Given the description of an element on the screen output the (x, y) to click on. 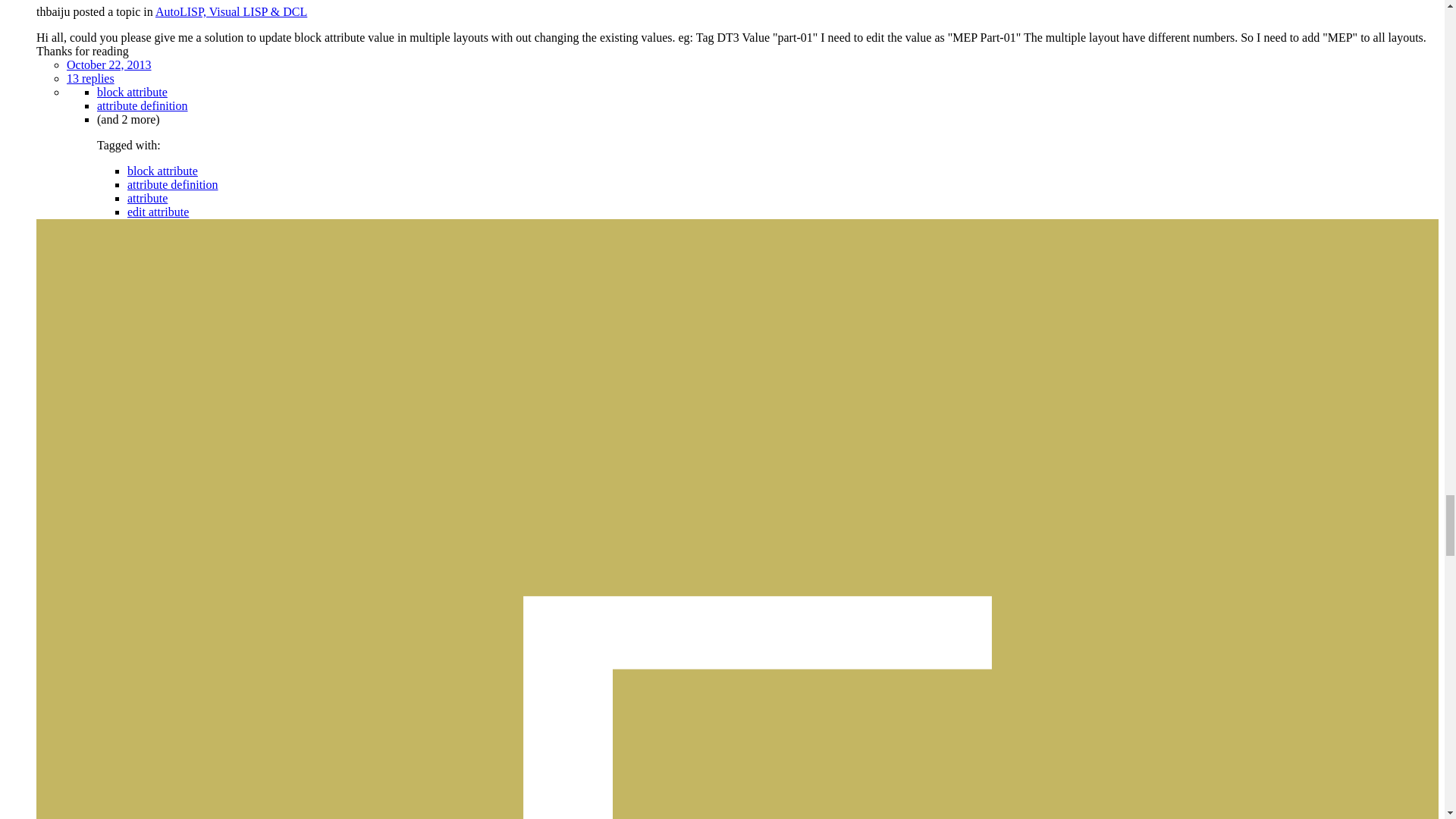
Find other content tagged with 'attribute' (147, 197)
Find other content tagged with 'attribute definition' (142, 105)
Find other content tagged with 'attribute definition' (173, 184)
Find other content tagged with 'block attribute' (132, 91)
Find other content tagged with 'edit attribute' (158, 211)
Find other content tagged with 'block attribute' (163, 170)
